Given the description of an element on the screen output the (x, y) to click on. 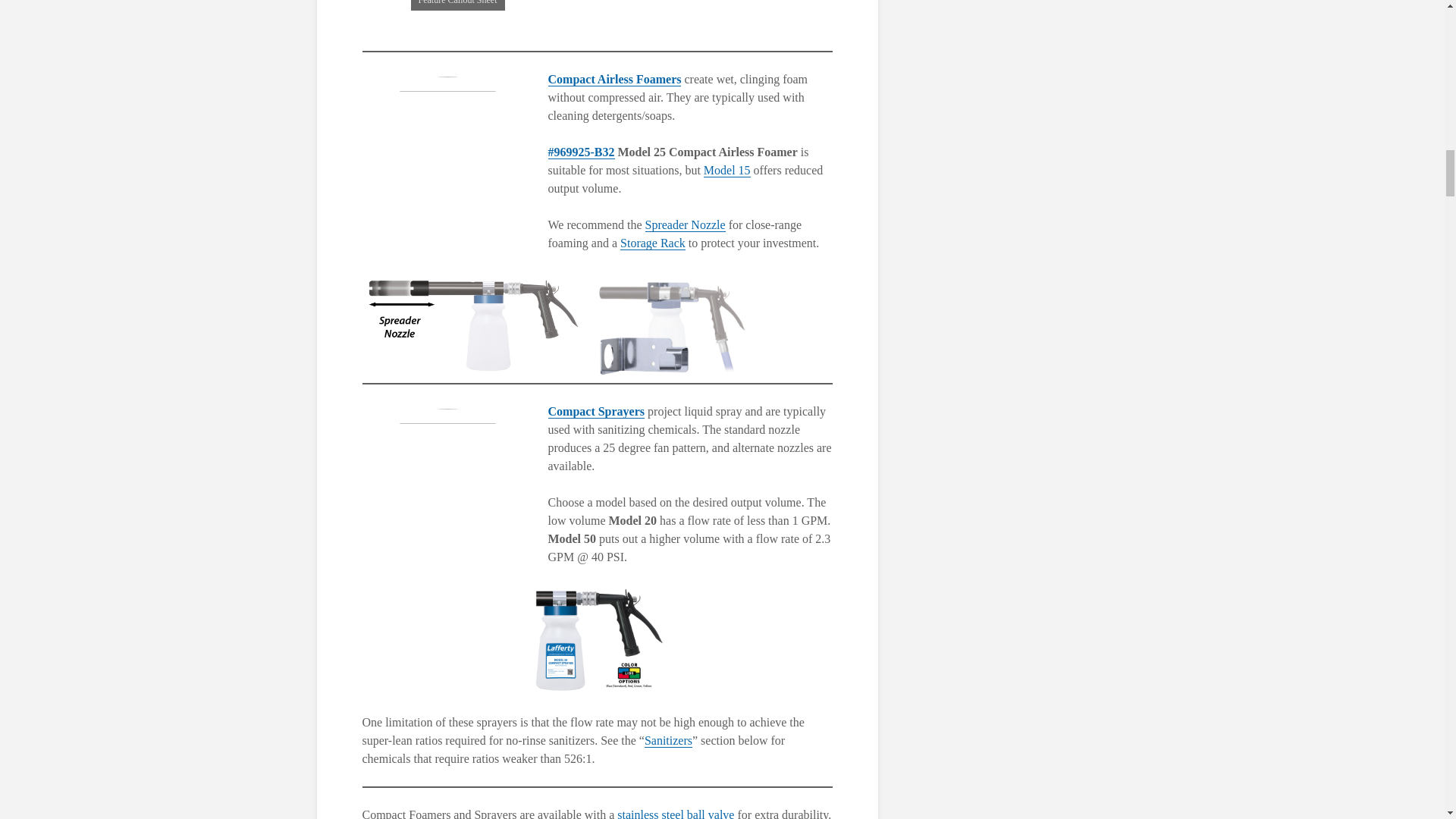
Spreader Nozzle (685, 224)
Model 15 (727, 170)
Compact Airless Foamers (614, 79)
Storage Rack (652, 243)
Sanitizers (669, 740)
Compact Sprayers (596, 411)
